Given the description of an element on the screen output the (x, y) to click on. 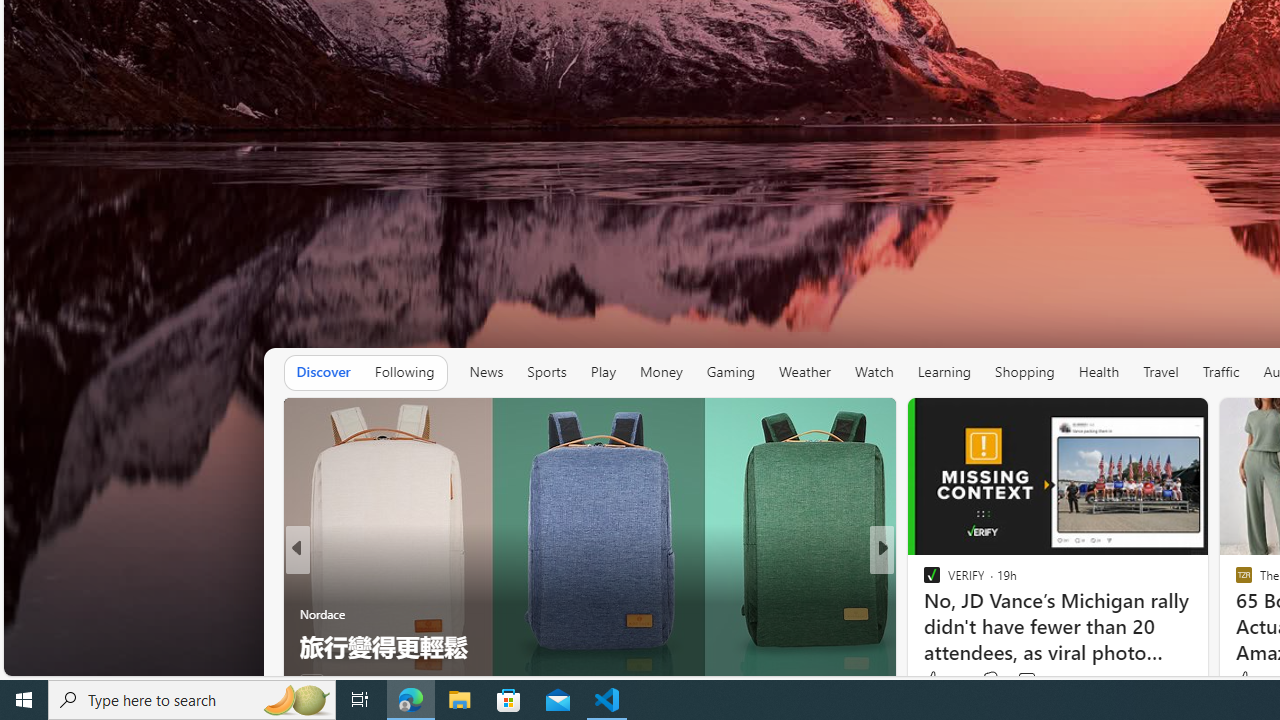
Play (603, 372)
Weather (804, 372)
Tom's Guide (923, 581)
1k Like (933, 681)
611 Like (936, 681)
62 Like (1251, 680)
CNBC (923, 581)
Health (1098, 372)
Gaming (730, 371)
115 Like (942, 680)
Travel (1160, 372)
141 Like (936, 681)
